Given the description of an element on the screen output the (x, y) to click on. 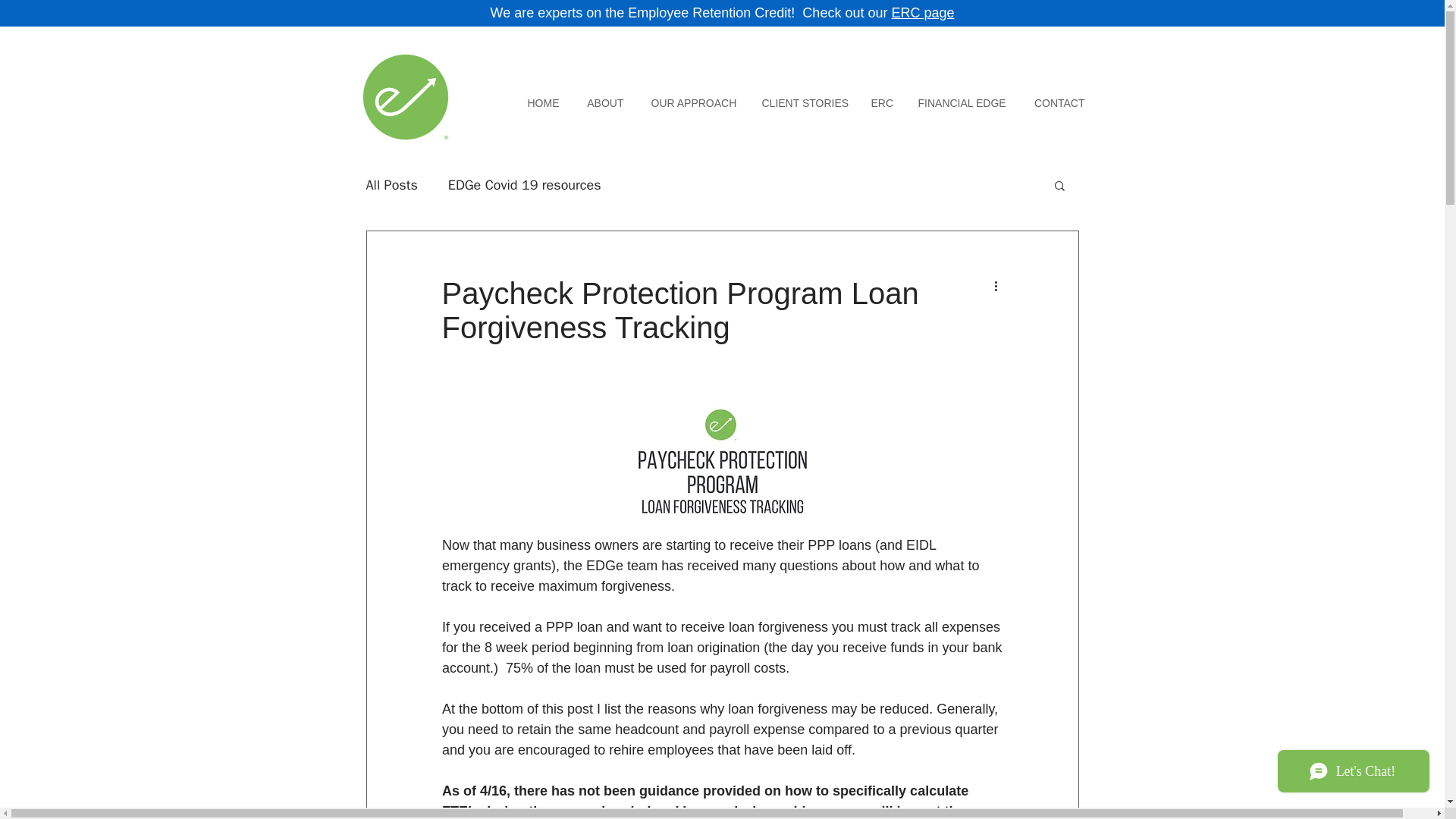
ERC (880, 96)
ABOUT (605, 96)
ERC page (922, 12)
EDGe Covid 19 resources (524, 185)
Wix Chat (1356, 774)
CLIENT STORIES (802, 96)
CONTACT (1058, 96)
OUR APPROACH (692, 96)
HOME (543, 96)
All Posts (390, 185)
